Given the description of an element on the screen output the (x, y) to click on. 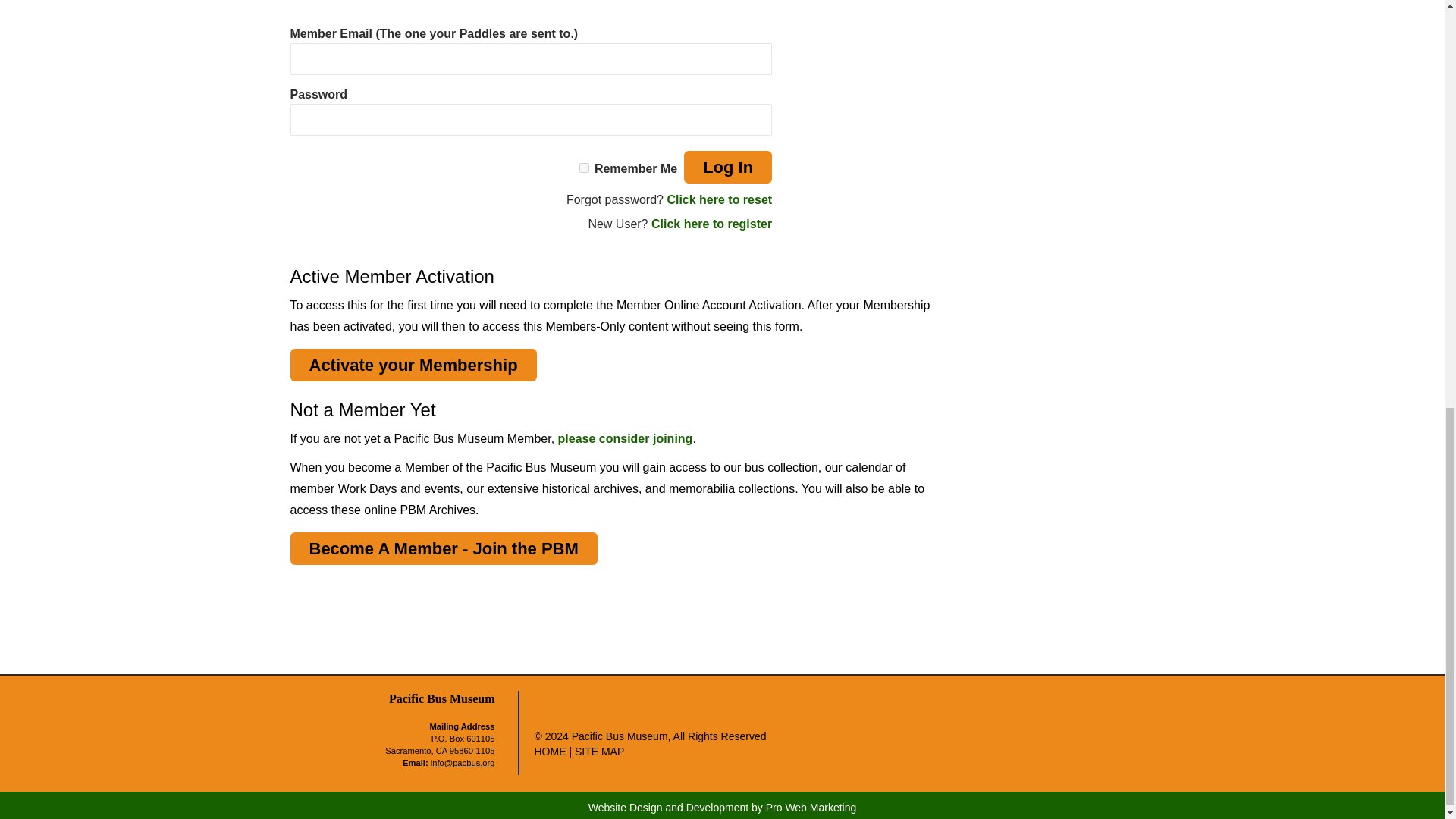
forever (584, 167)
Log In (727, 166)
